Given the description of an element on the screen output the (x, y) to click on. 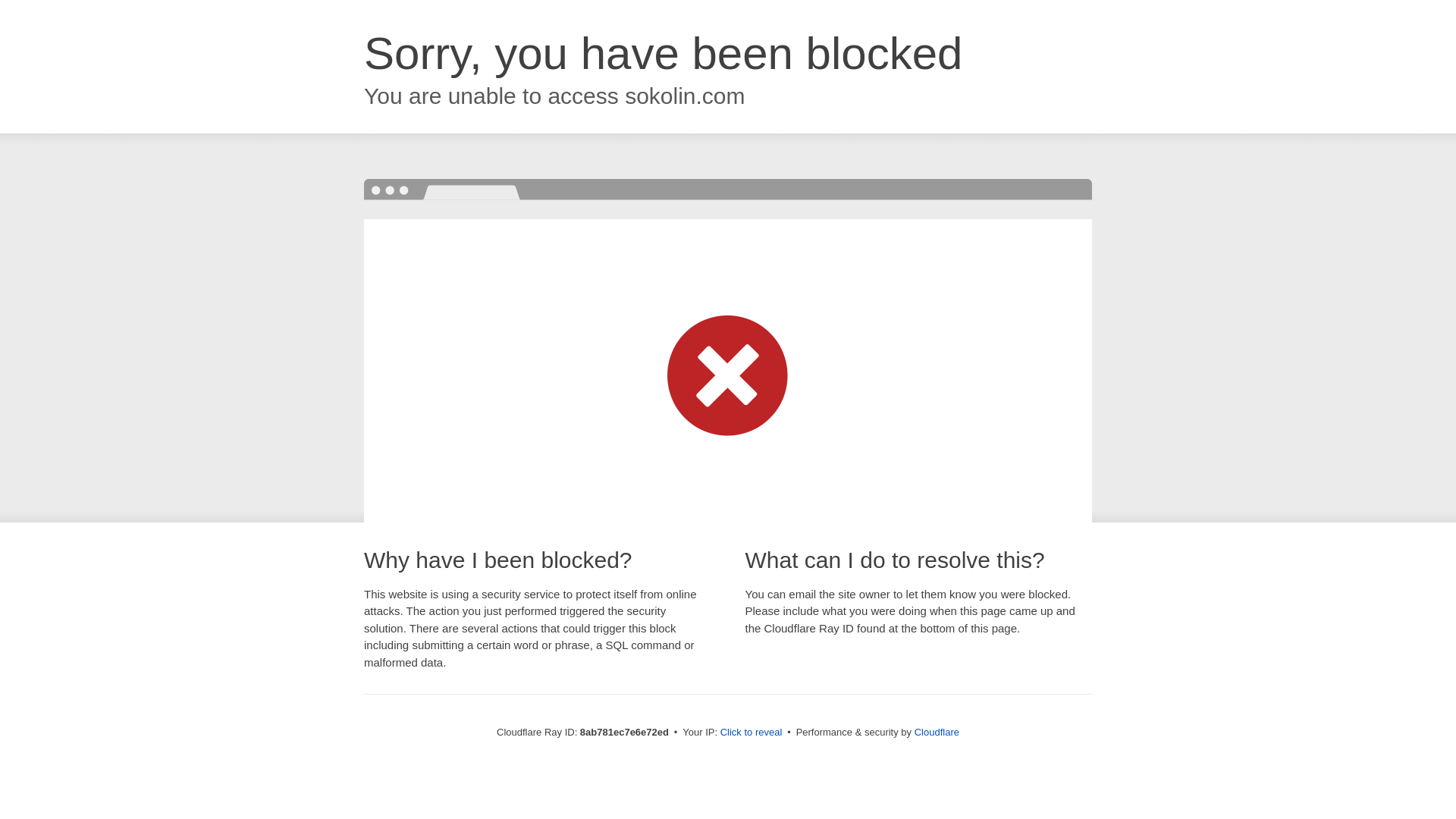
Cloudflare (936, 731)
Click to reveal (751, 732)
